Given the description of an element on the screen output the (x, y) to click on. 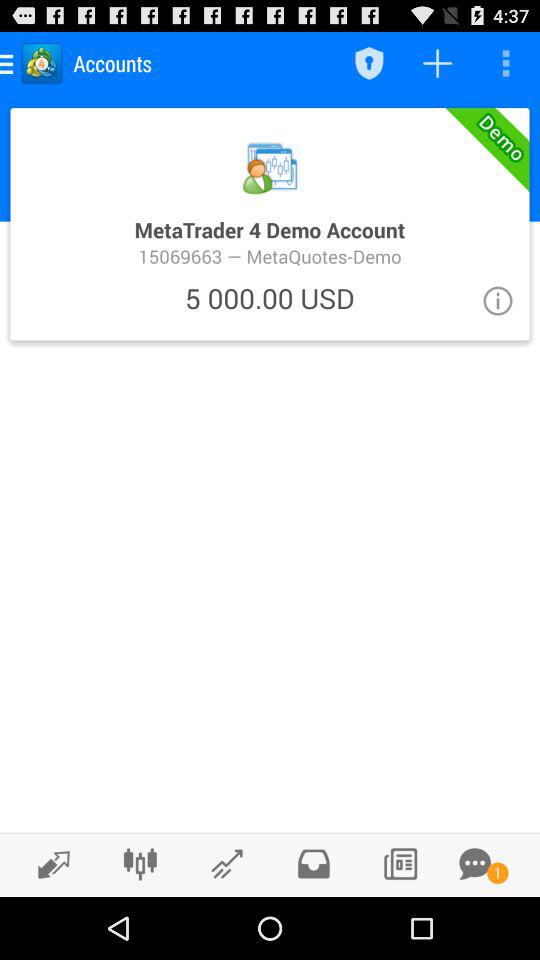
demo funds (269, 223)
